Given the description of an element on the screen output the (x, y) to click on. 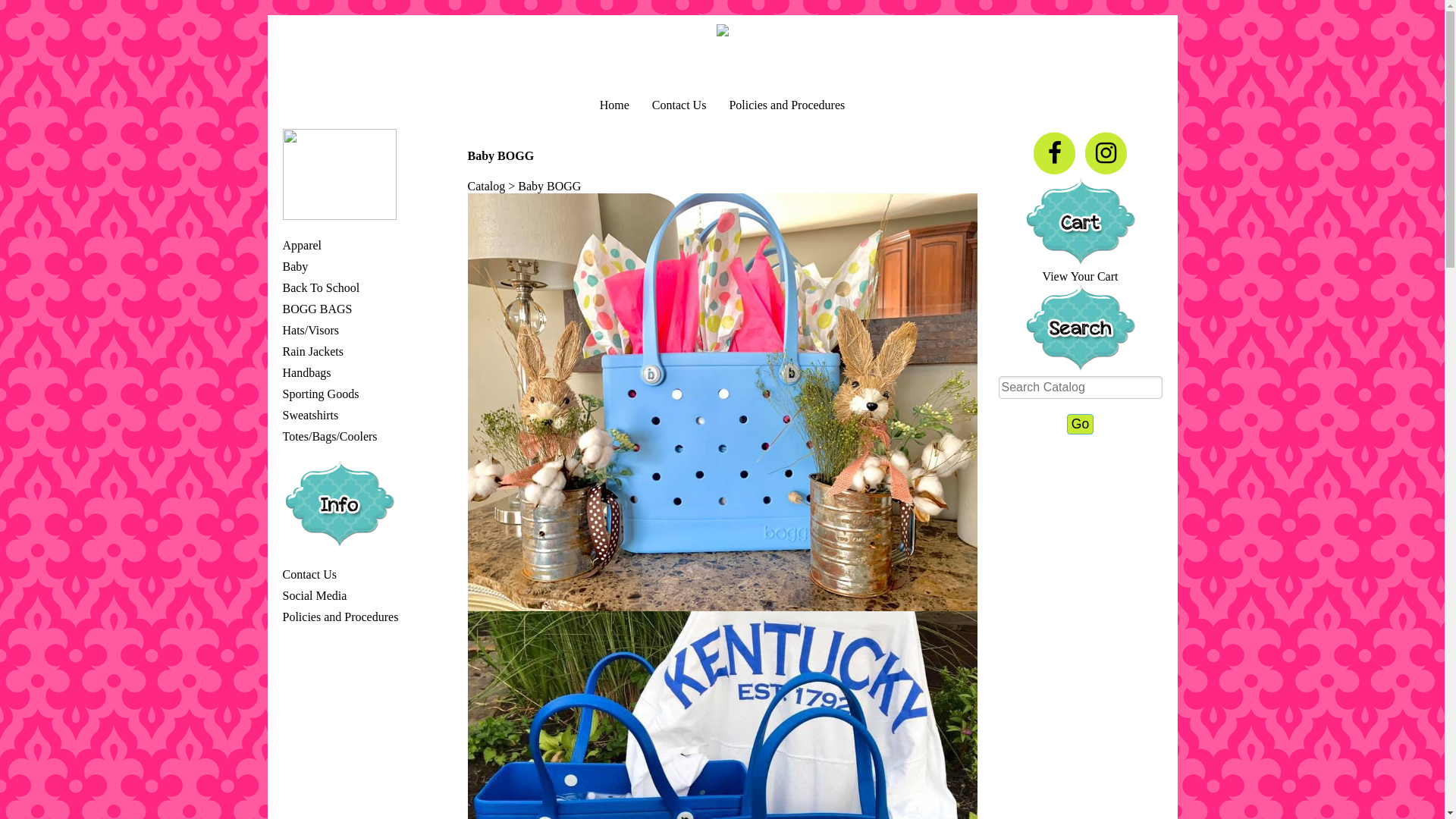
Social Media Element type: text (314, 595)
BOGG BAGS Element type: text (316, 309)
Totes/Bags/Coolers Element type: text (329, 436)
Baby Element type: text (294, 266)
Sweatshirts Element type: text (310, 415)
View Your Cart Element type: text (1080, 275)
Sporting Goods Element type: text (320, 394)
Hats/Visors Element type: text (310, 330)
Policies and Procedures Element type: text (340, 617)
Go Element type: text (1079, 424)
Handbags Element type: text (306, 372)
Catalog Element type: text (486, 185)
Home Element type: text (614, 104)
Contact Us Element type: text (679, 104)
Rain Jackets Element type: text (312, 351)
Contact Us Element type: text (309, 574)
Back To School Element type: text (320, 287)
Apparel Element type: text (301, 245)
Policies and Procedures Element type: text (786, 104)
Baby BOGG Element type: hover (721, 402)
